Given the description of an element on the screen output the (x, y) to click on. 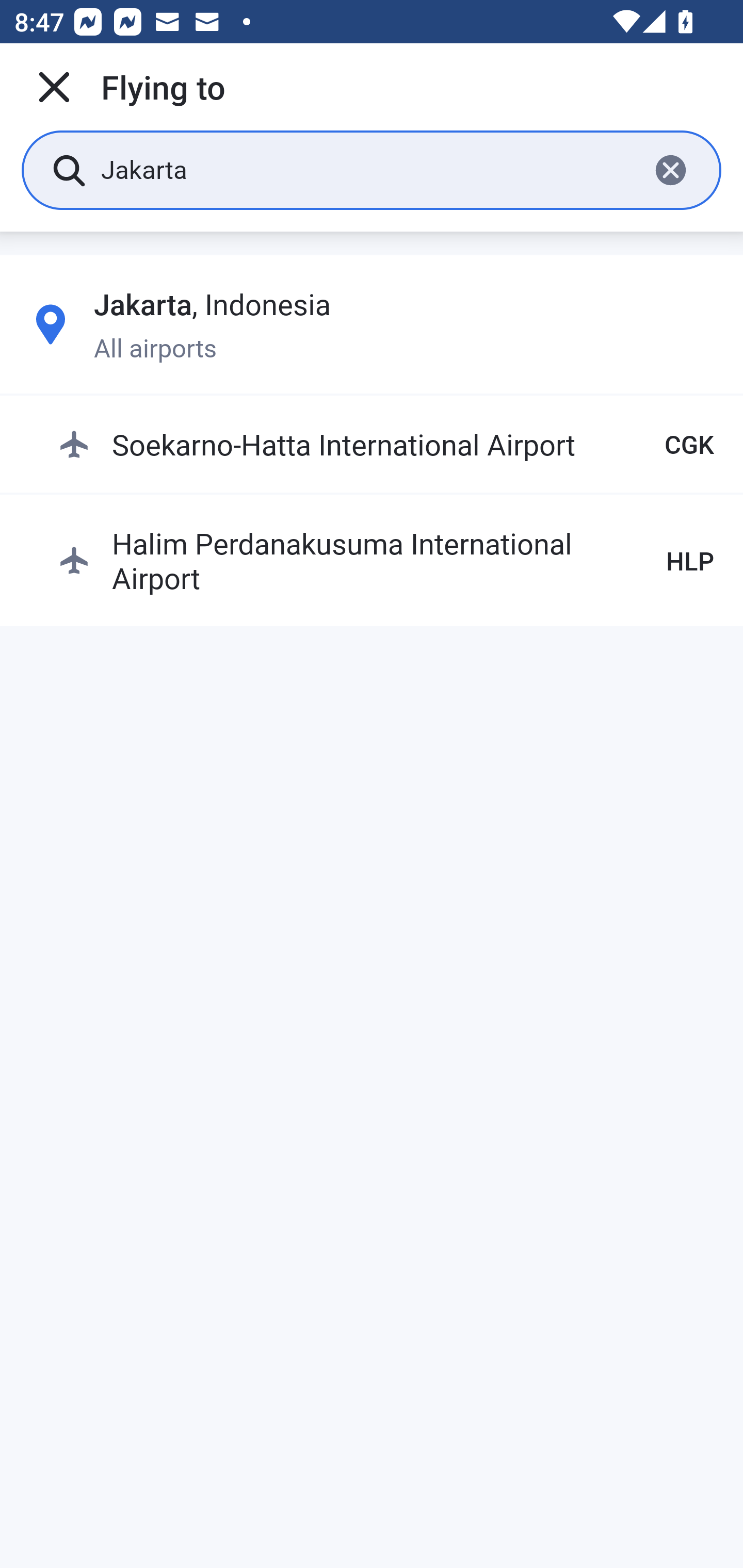
Jakarta (367, 169)
Jakarta, Indonesia All airports (371, 324)
Soekarno-Hatta International Airport CGK (385, 444)
Halim Perdanakusuma International Airport HLP (385, 560)
